Given the description of an element on the screen output the (x, y) to click on. 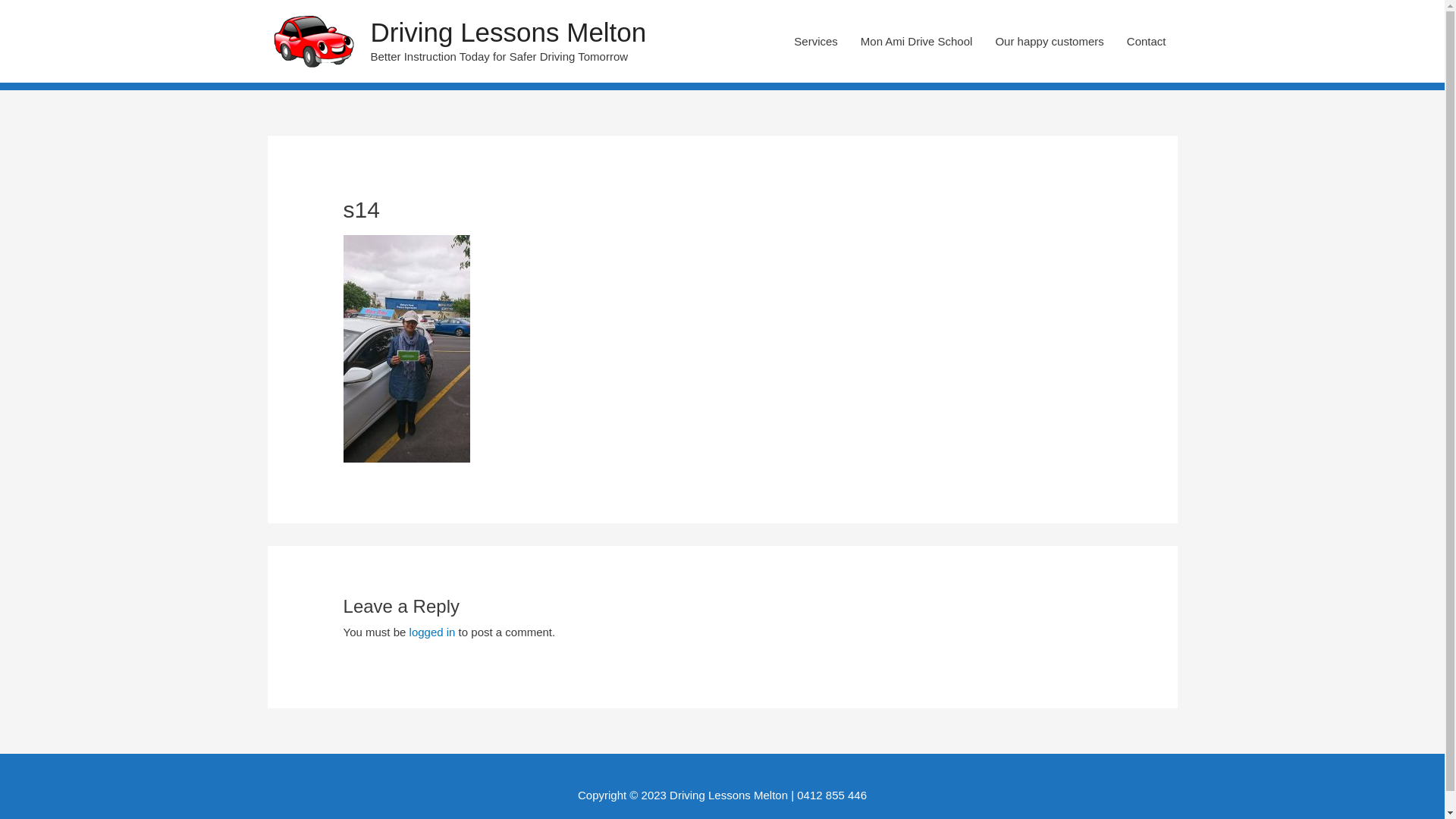
logged in Element type: text (432, 631)
Services Element type: text (815, 40)
Driving Lessons Melton Element type: text (508, 32)
Contact Element type: text (1146, 40)
Mon Ami Drive School Element type: text (916, 40)
Our happy customers Element type: text (1048, 40)
